Given the description of an element on the screen output the (x, y) to click on. 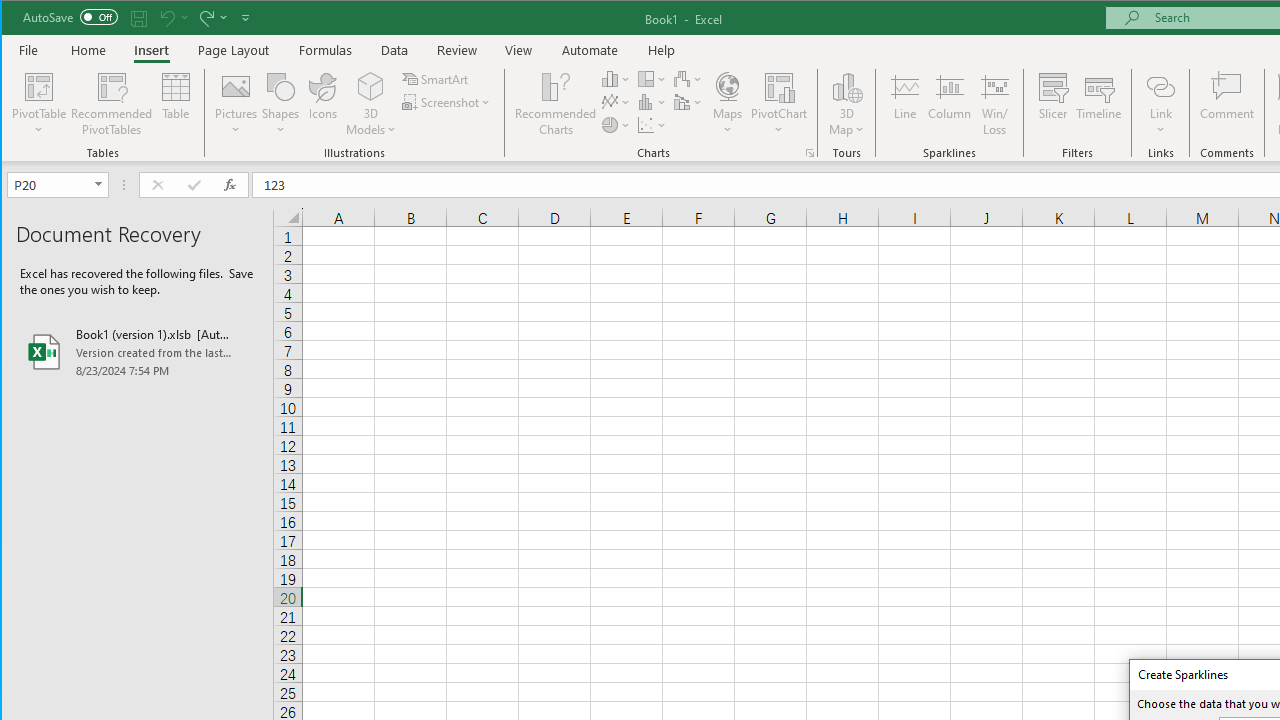
PivotChart (779, 104)
Shapes (280, 104)
Insert Waterfall, Funnel, Stock, Surface, or Radar Chart (688, 78)
Column (949, 104)
PivotTable (39, 86)
Insert Scatter (X, Y) or Bubble Chart (652, 124)
